Given the description of an element on the screen output the (x, y) to click on. 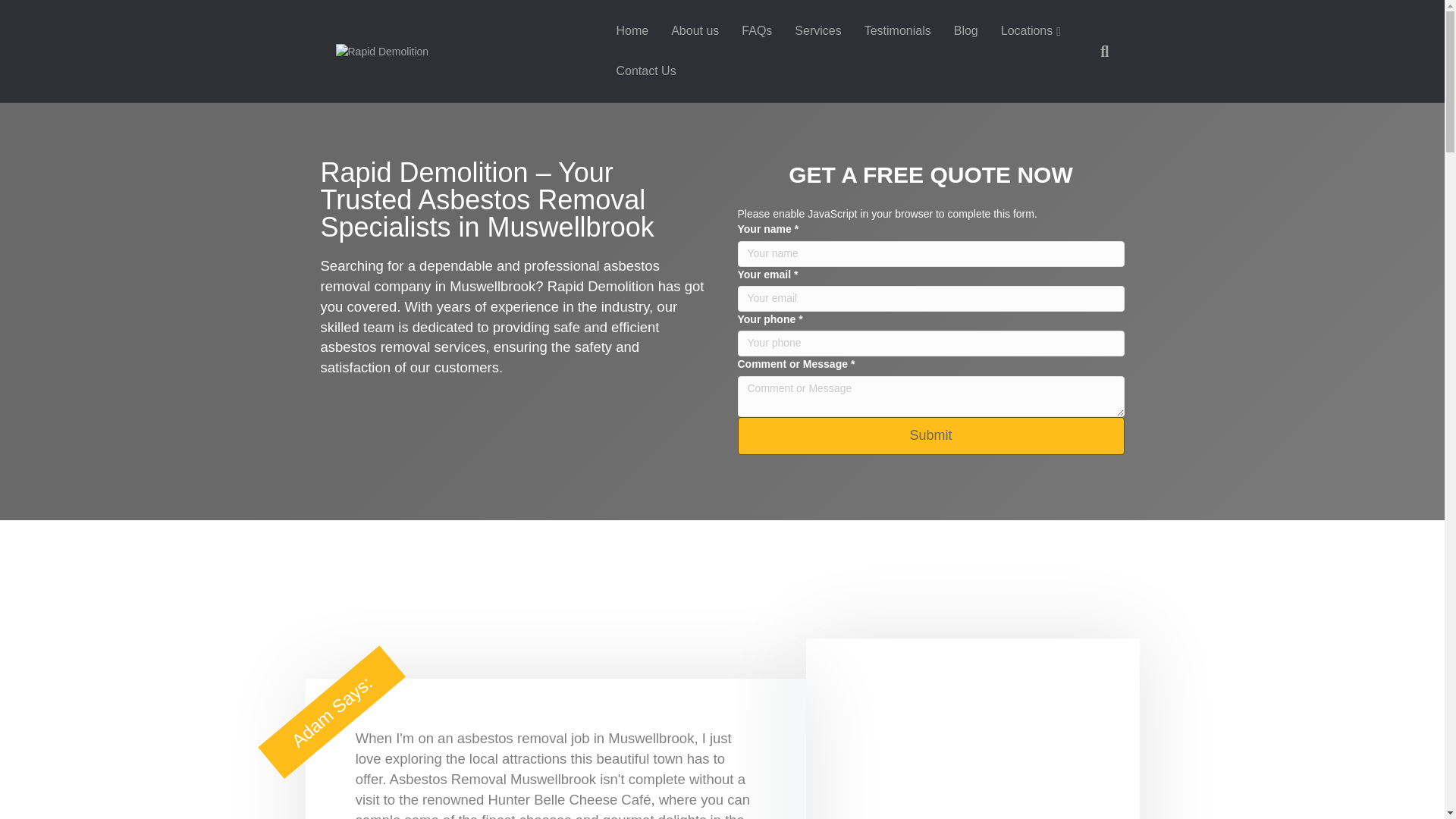
Testimonials (897, 30)
Contact Us (645, 70)
Services (817, 30)
Home (631, 30)
FAQs (756, 30)
Blog (966, 30)
About us (694, 30)
Submit (930, 435)
Locations (1030, 31)
